Given the description of an element on the screen output the (x, y) to click on. 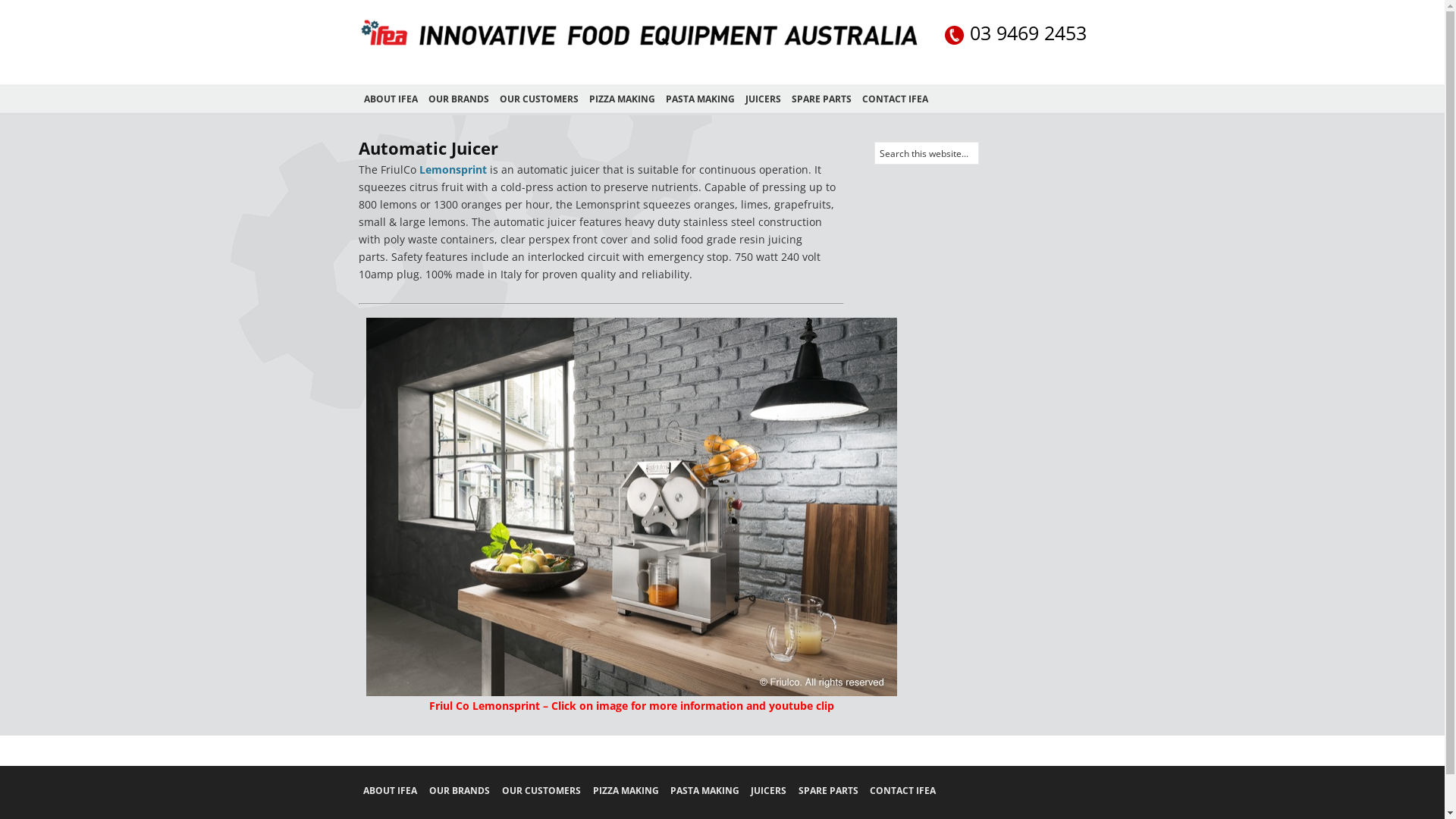
OUR BRANDS Element type: text (458, 99)
OUR BRANDS Element type: text (459, 790)
JUICERS Element type: text (768, 790)
CONTACT IFEA Element type: text (902, 790)
ABOUT IFEA Element type: text (389, 99)
ABOUT IFEA Element type: text (389, 790)
Innovative Food Equipment Australia Element type: text (638, 47)
PIZZA MAKING Element type: text (625, 790)
OUR CUSTOMERS Element type: text (541, 790)
SPARE PARTS Element type: text (820, 99)
03 9469 2453 Element type: text (1015, 34)
JUICERS Element type: text (763, 99)
CONTACT IFEA Element type: text (894, 99)
PIZZA MAKING Element type: text (621, 99)
Lemonsprint Element type: text (452, 169)
PASTA MAKING Element type: text (704, 790)
SPARE PARTS Element type: text (827, 790)
PASTA MAKING Element type: text (699, 99)
OUR CUSTOMERS Element type: text (538, 99)
